Given the description of an element on the screen output the (x, y) to click on. 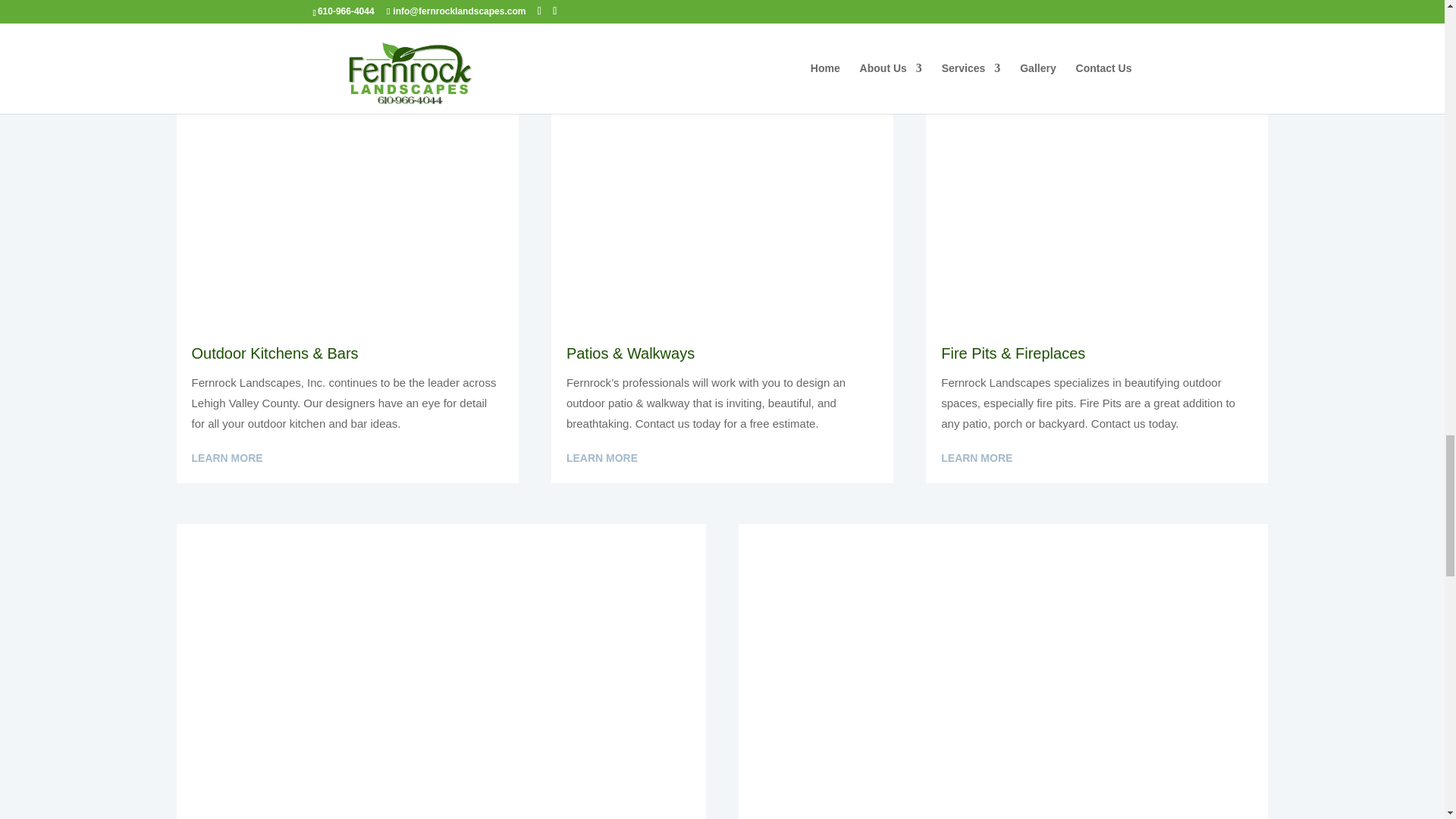
LEARN MORE (601, 24)
LEARN MORE (601, 458)
LEARN MORE (226, 24)
LEARN MORE (975, 458)
LEARN MORE (226, 458)
LEARN MORE (975, 6)
Walkway Installation (722, 204)
Fire Pit Design (1097, 204)
